Given the description of an element on the screen output the (x, y) to click on. 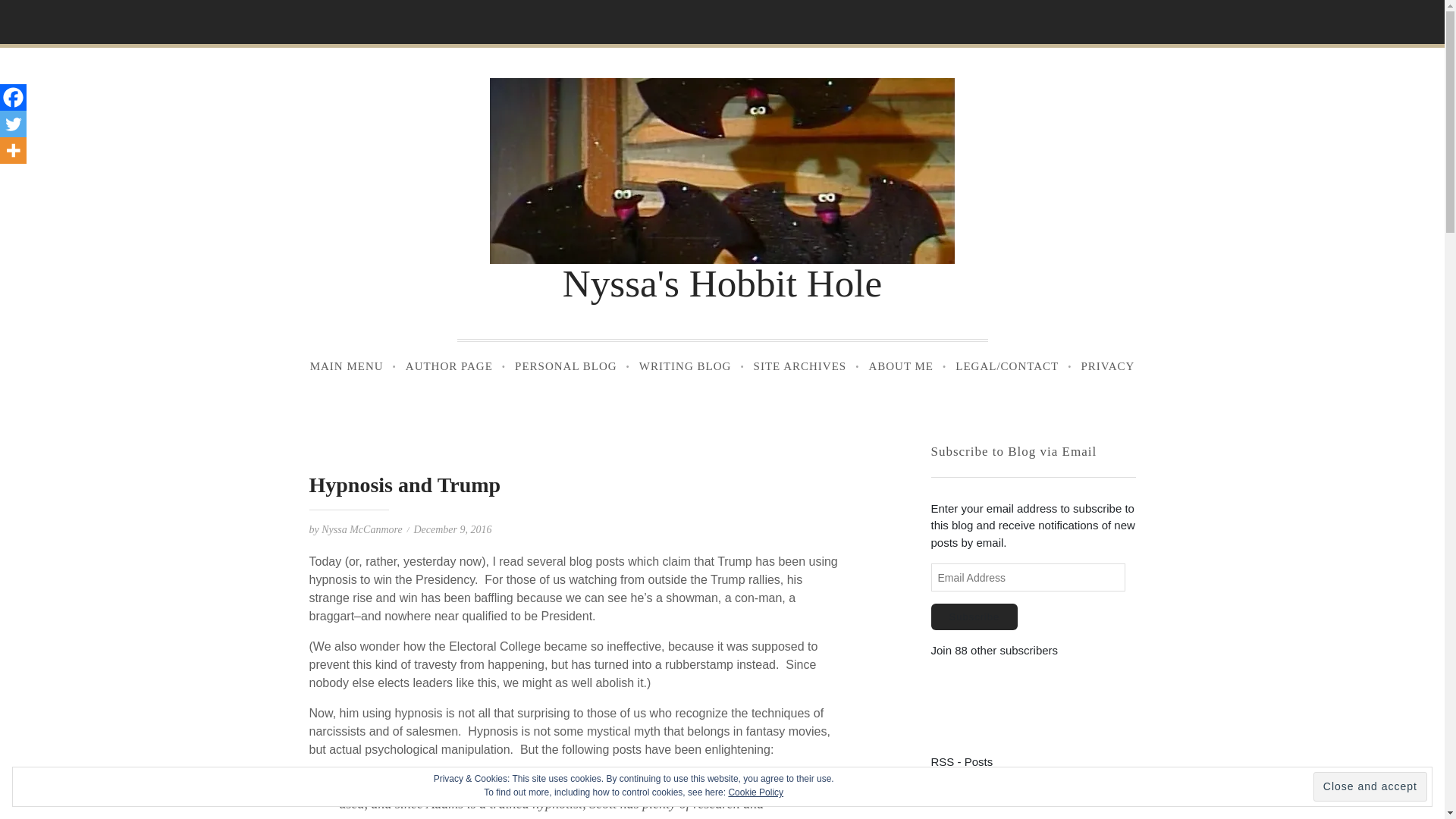
Nyssa McCanmore (361, 529)
Twitter (13, 123)
RSS - Comments (975, 788)
MAIN MENU (346, 366)
PRIVACY (1107, 366)
Nyssa's Hobbit Hole (722, 282)
December 9, 2016 (452, 529)
Close and accept (1369, 786)
Subscribe to posts (961, 761)
WRITING BLOG (684, 366)
RSS - Posts (961, 761)
PERSONAL BLOG (566, 366)
Subscribe to comments (975, 788)
ABOUT ME (901, 366)
Subscribe (974, 616)
